Given the description of an element on the screen output the (x, y) to click on. 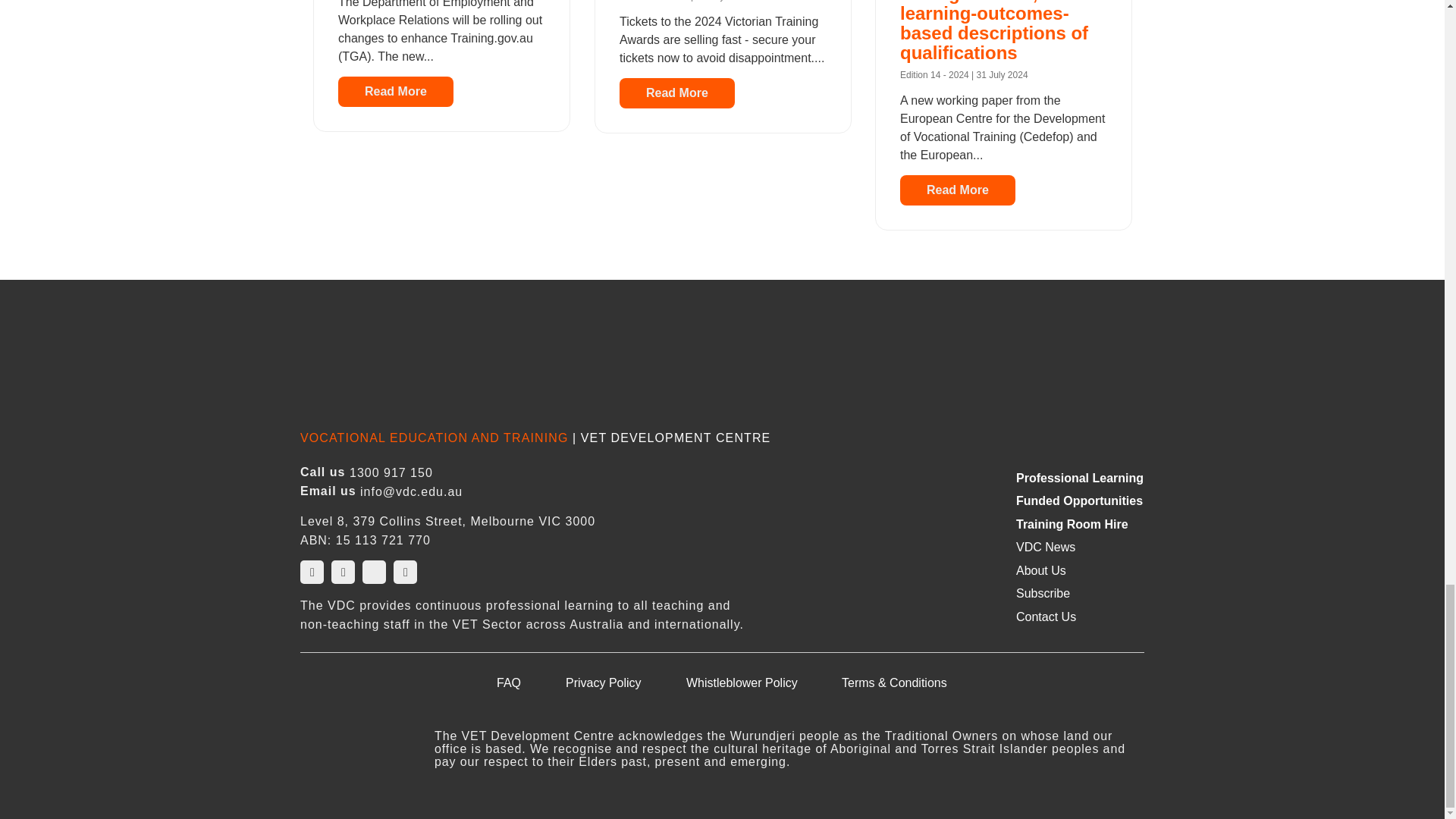
Read More (957, 190)
Read More (676, 93)
Read More (395, 91)
